Given the description of an element on the screen output the (x, y) to click on. 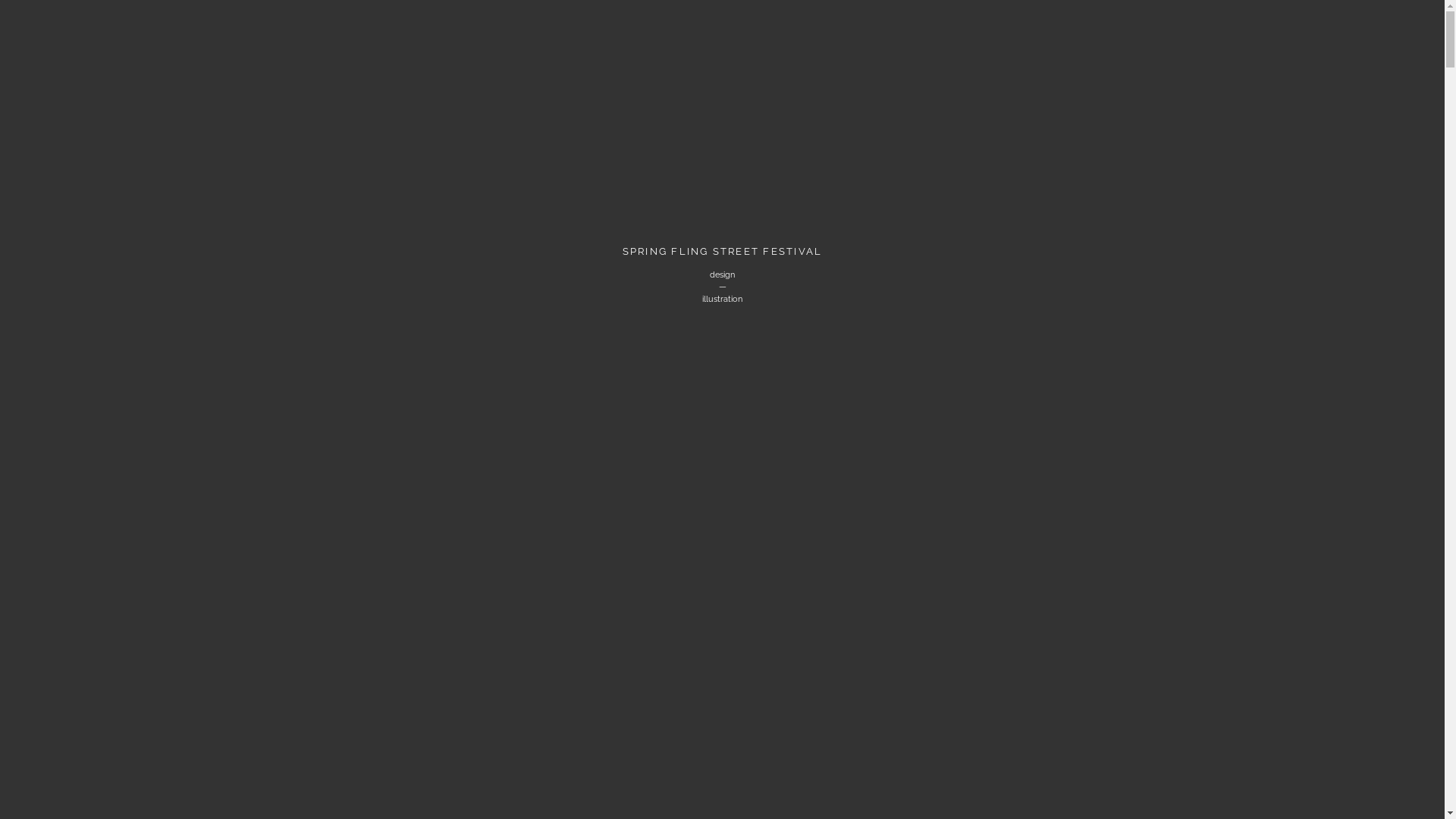
CONTACT Element type: text (808, 147)
ABOUT Element type: text (711, 147)
WORK Element type: text (625, 150)
